Given the description of an element on the screen output the (x, y) to click on. 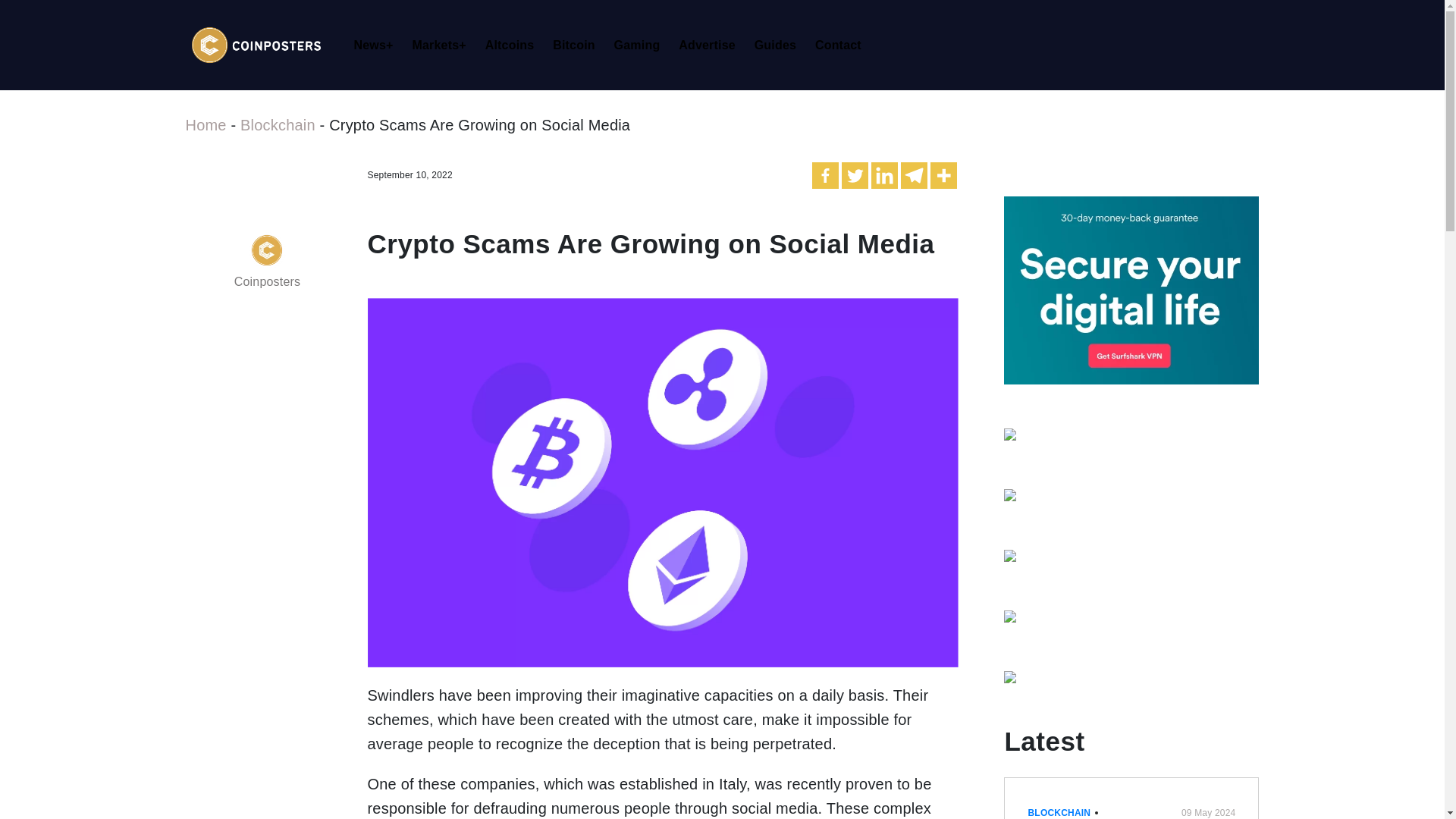
Bitcoin (578, 45)
More (943, 175)
Gaming (641, 45)
Contact (842, 45)
Guides (780, 45)
Advertise (711, 45)
Home (204, 125)
Linkedin (884, 175)
Blockchain (277, 125)
Altcoins (514, 45)
